Given the description of an element on the screen output the (x, y) to click on. 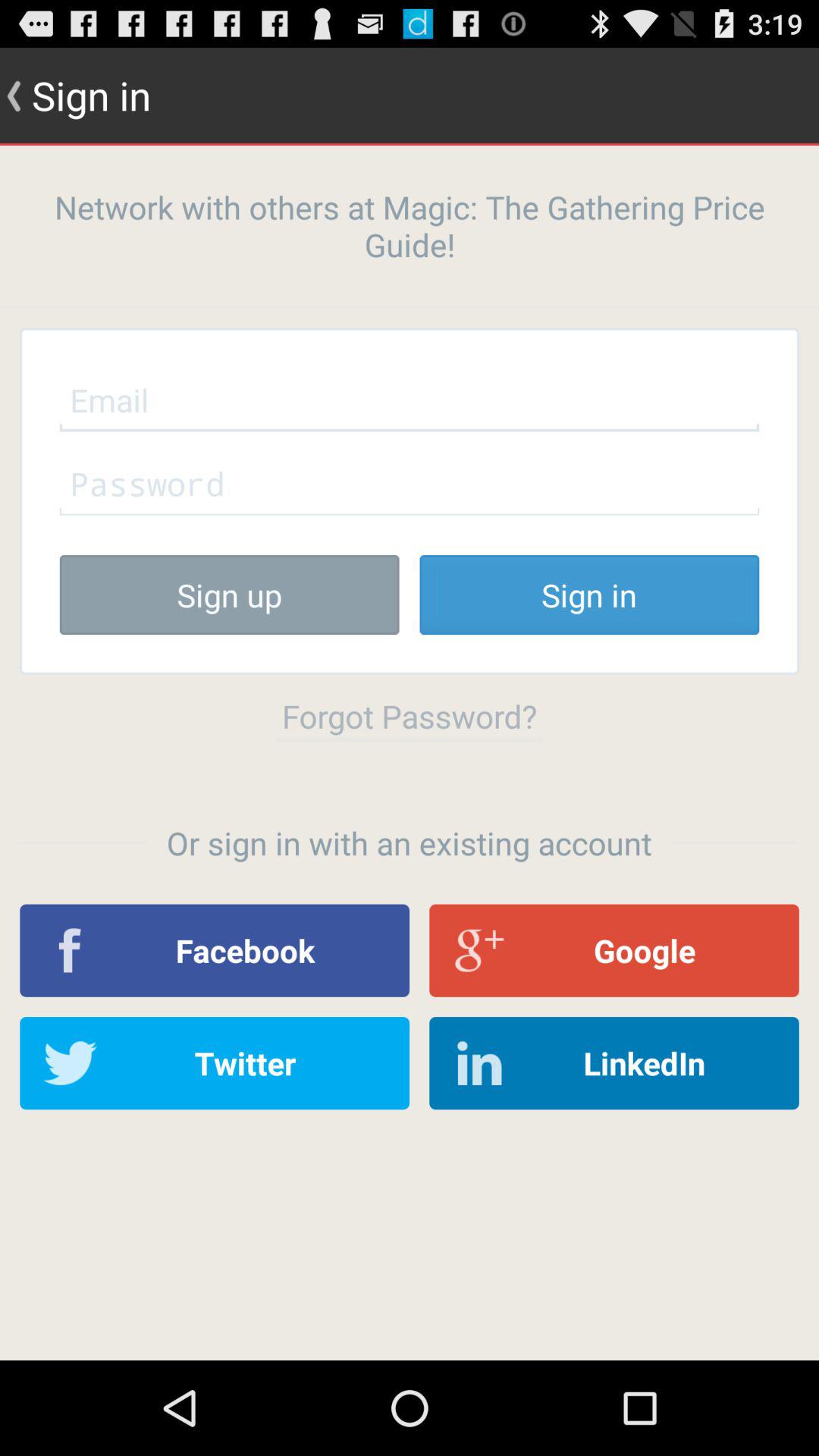
press app below the facebook app (214, 1062)
